Given the description of an element on the screen output the (x, y) to click on. 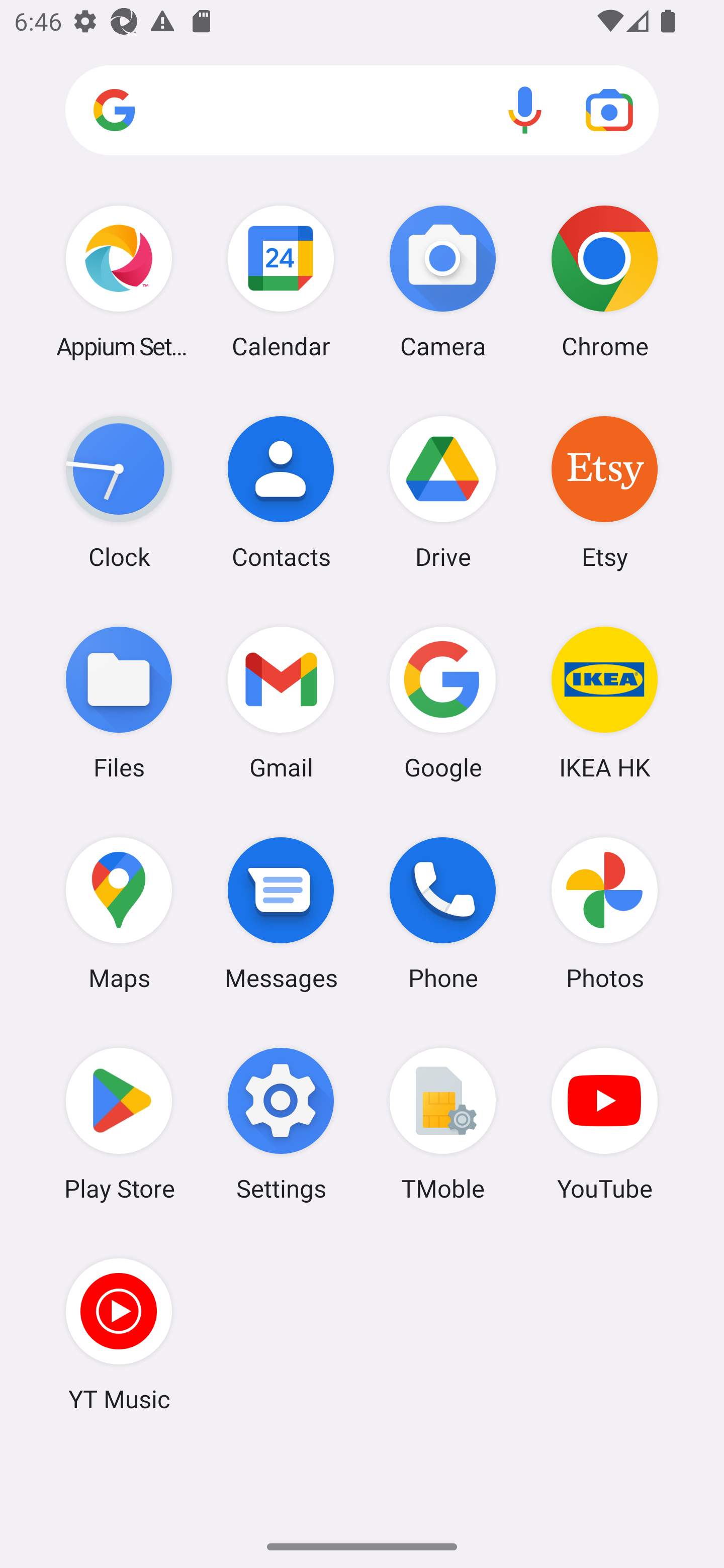
Search apps, web and more (361, 110)
Voice search (524, 109)
Google Lens (608, 109)
Appium Settings (118, 281)
Calendar (280, 281)
Camera (443, 281)
Chrome (604, 281)
Clock (118, 492)
Contacts (280, 492)
Drive (443, 492)
Etsy (604, 492)
Files (118, 702)
Gmail (280, 702)
Google (443, 702)
IKEA HK (604, 702)
Maps (118, 913)
Messages (280, 913)
Phone (443, 913)
Photos (604, 913)
Play Store (118, 1124)
Settings (280, 1124)
TMoble (443, 1124)
YouTube (604, 1124)
YT Music (118, 1334)
